Given the description of an element on the screen output the (x, y) to click on. 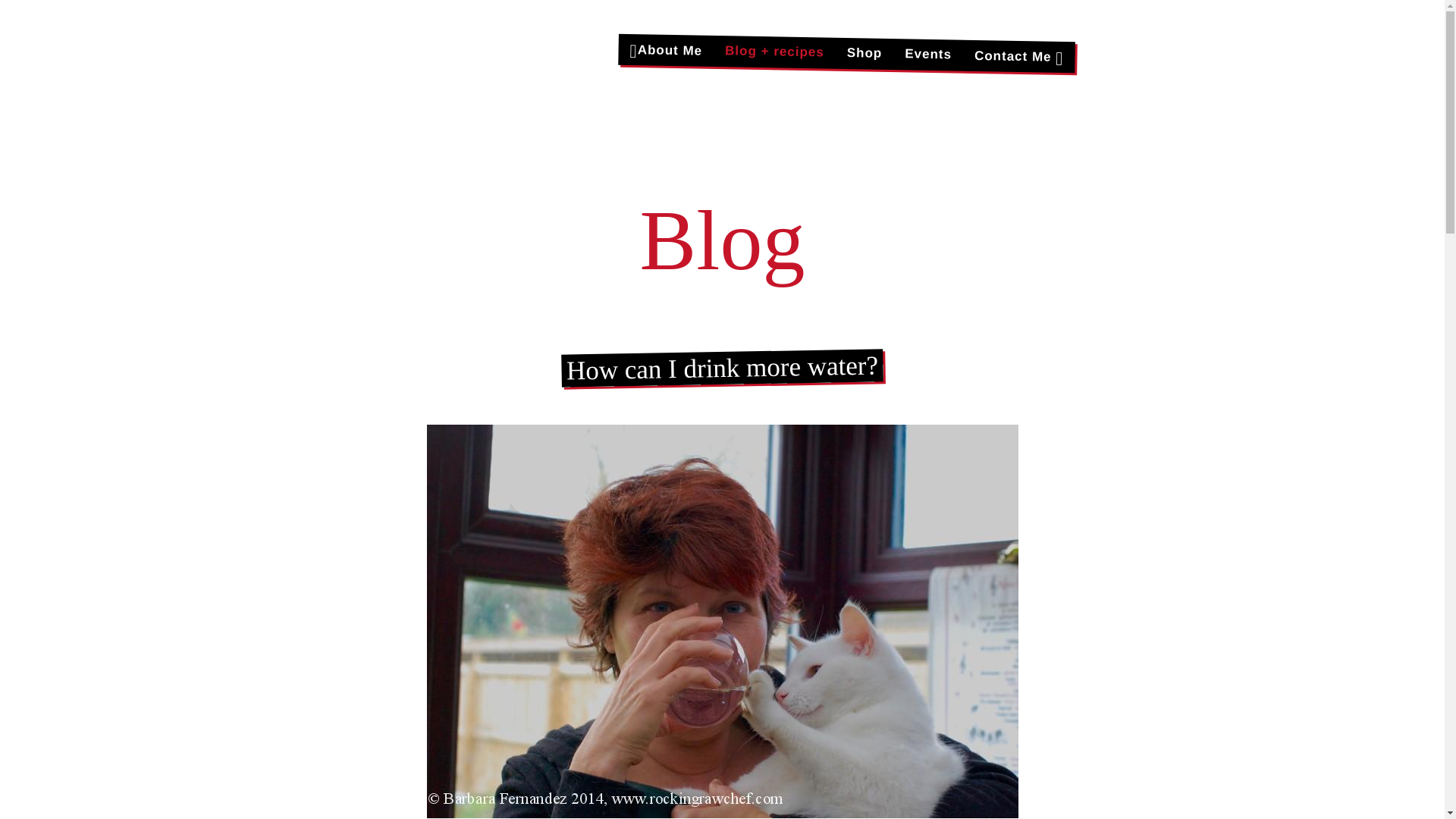
About Me (665, 49)
Shop (863, 52)
About Me (665, 49)
Contact Me (1018, 55)
Events (927, 53)
